Given the description of an element on the screen output the (x, y) to click on. 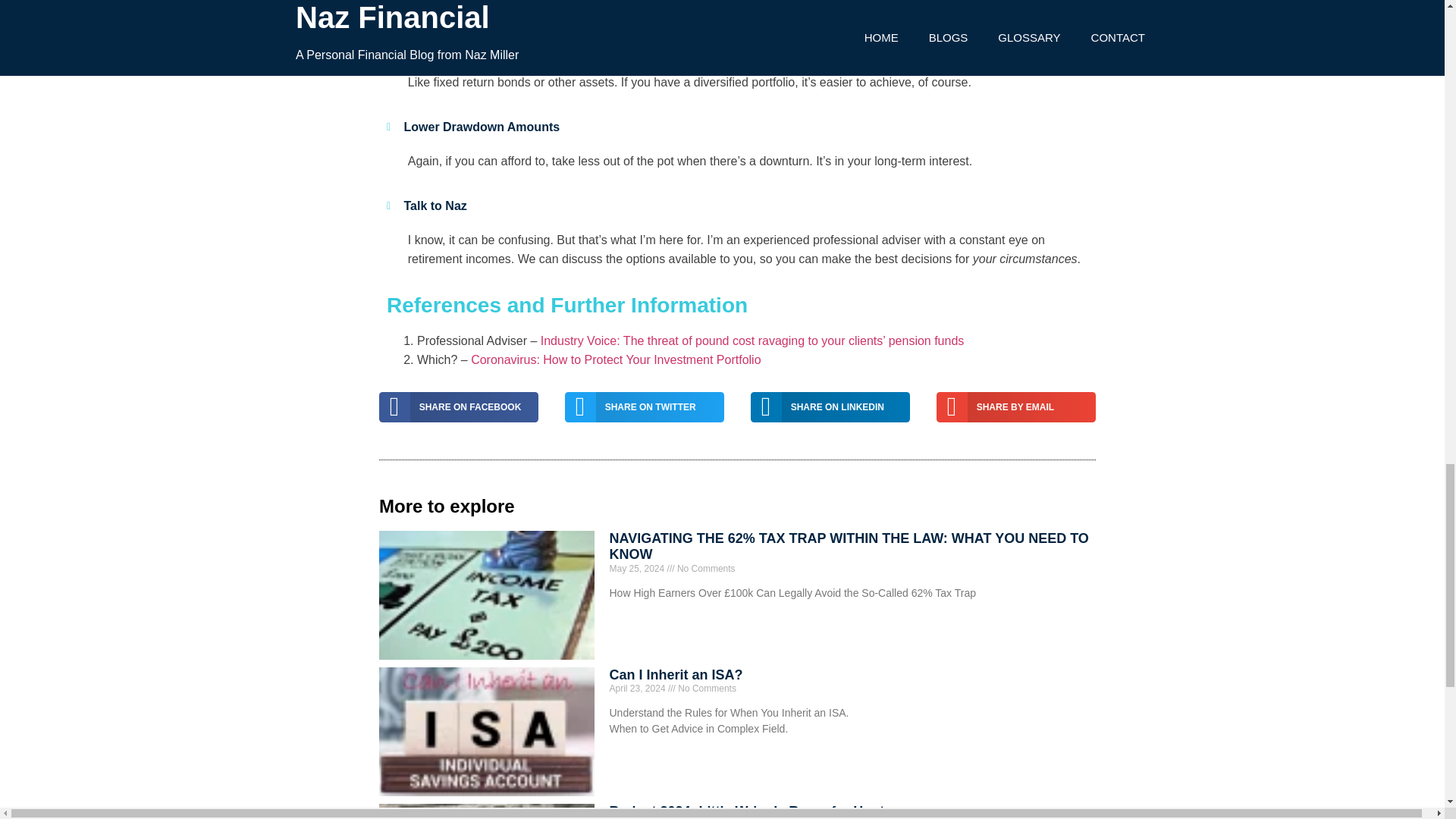
Can I Inherit an ISA? (676, 674)
Coronavirus: How to Protect Your Investment Portfolio (615, 359)
Budget 2024: Little Wriggle Room for Hunt (747, 811)
